Given the description of an element on the screen output the (x, y) to click on. 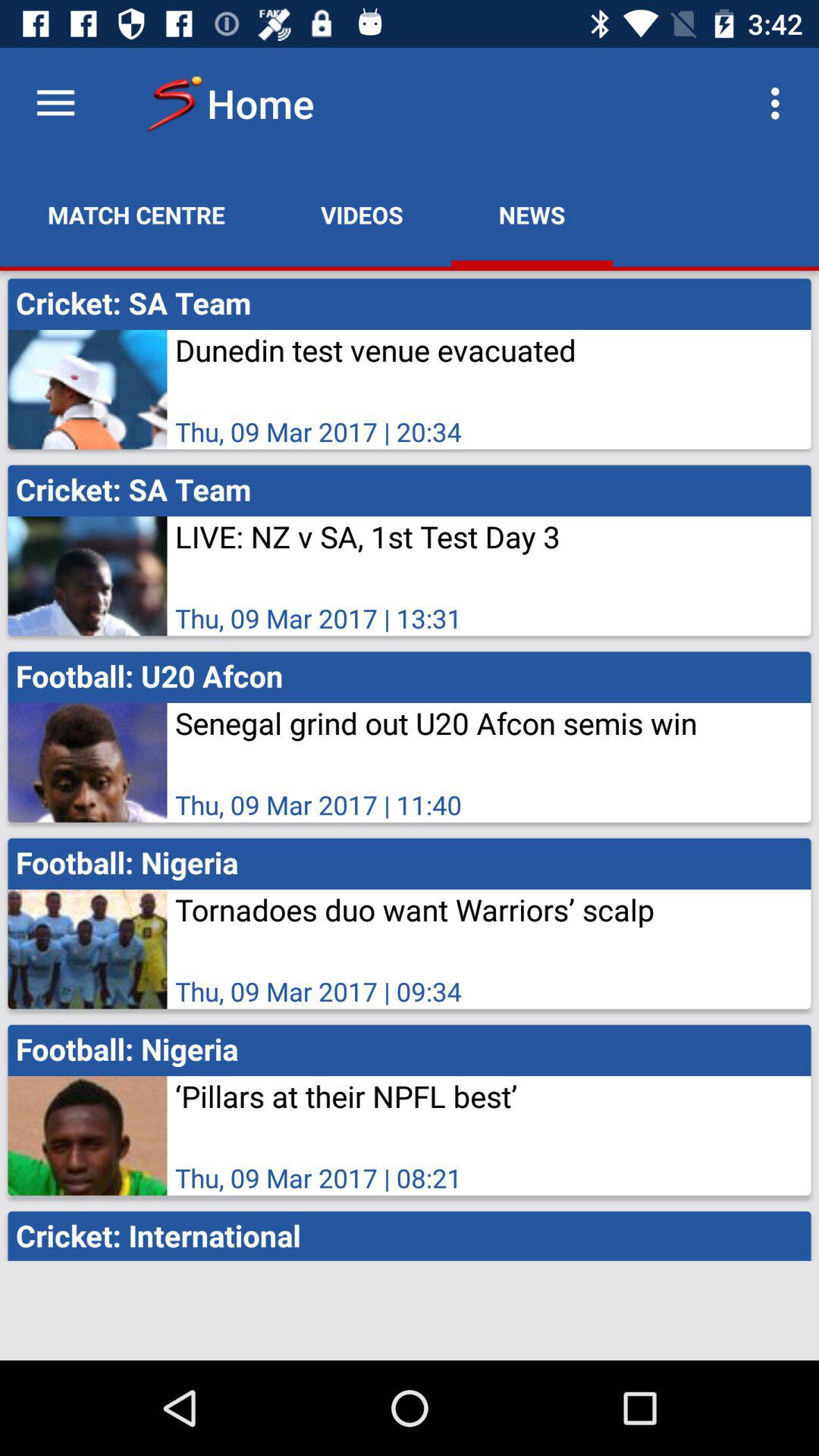
turn on the item above the cricket: sa team (362, 214)
